Given the description of an element on the screen output the (x, y) to click on. 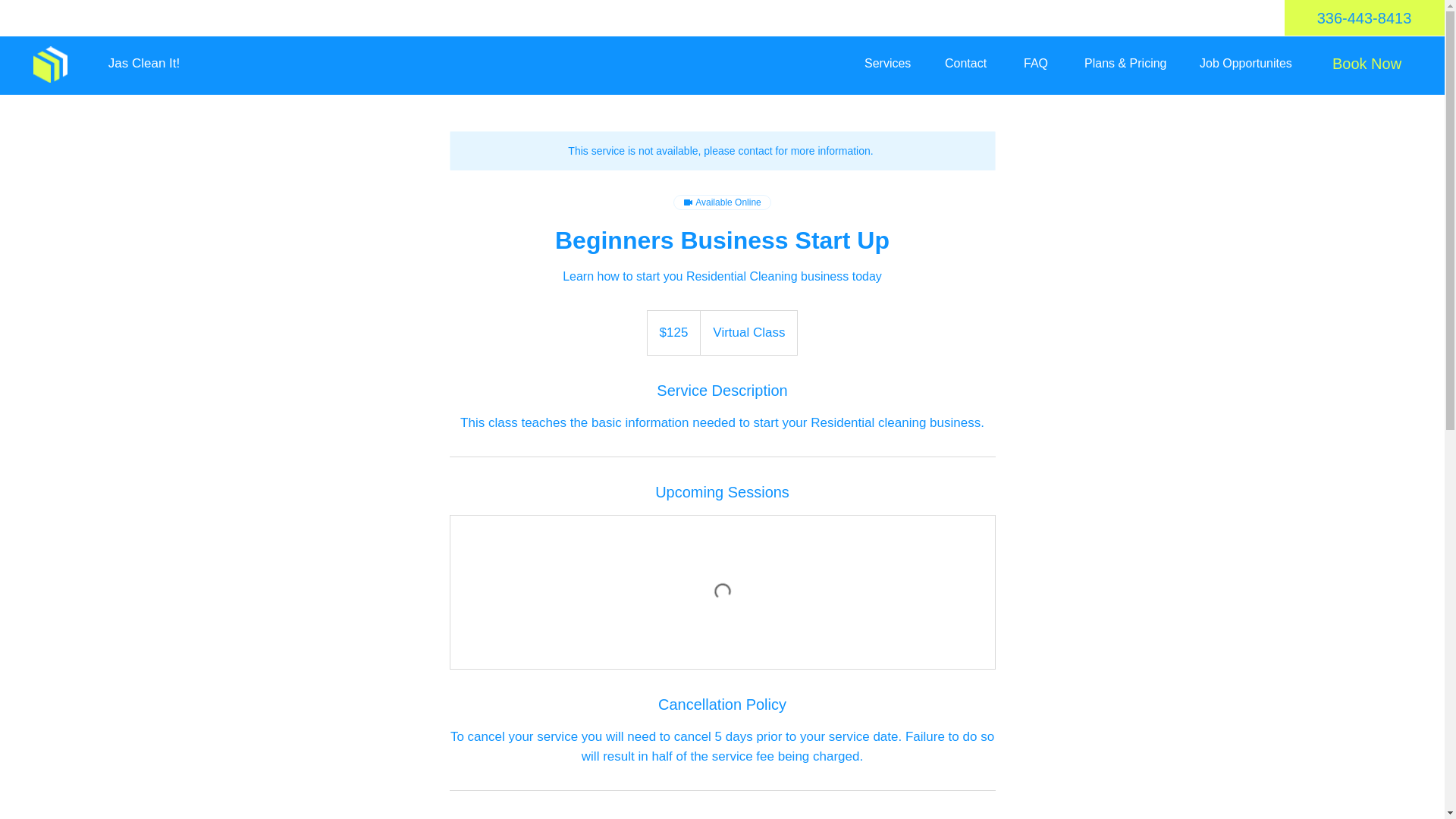
Contact (972, 63)
FAQ (1042, 63)
Services (893, 63)
Log In (535, 62)
Job Opportunites (1254, 63)
Book Now (1366, 63)
Jas Clean It! (143, 63)
